Given the description of an element on the screen output the (x, y) to click on. 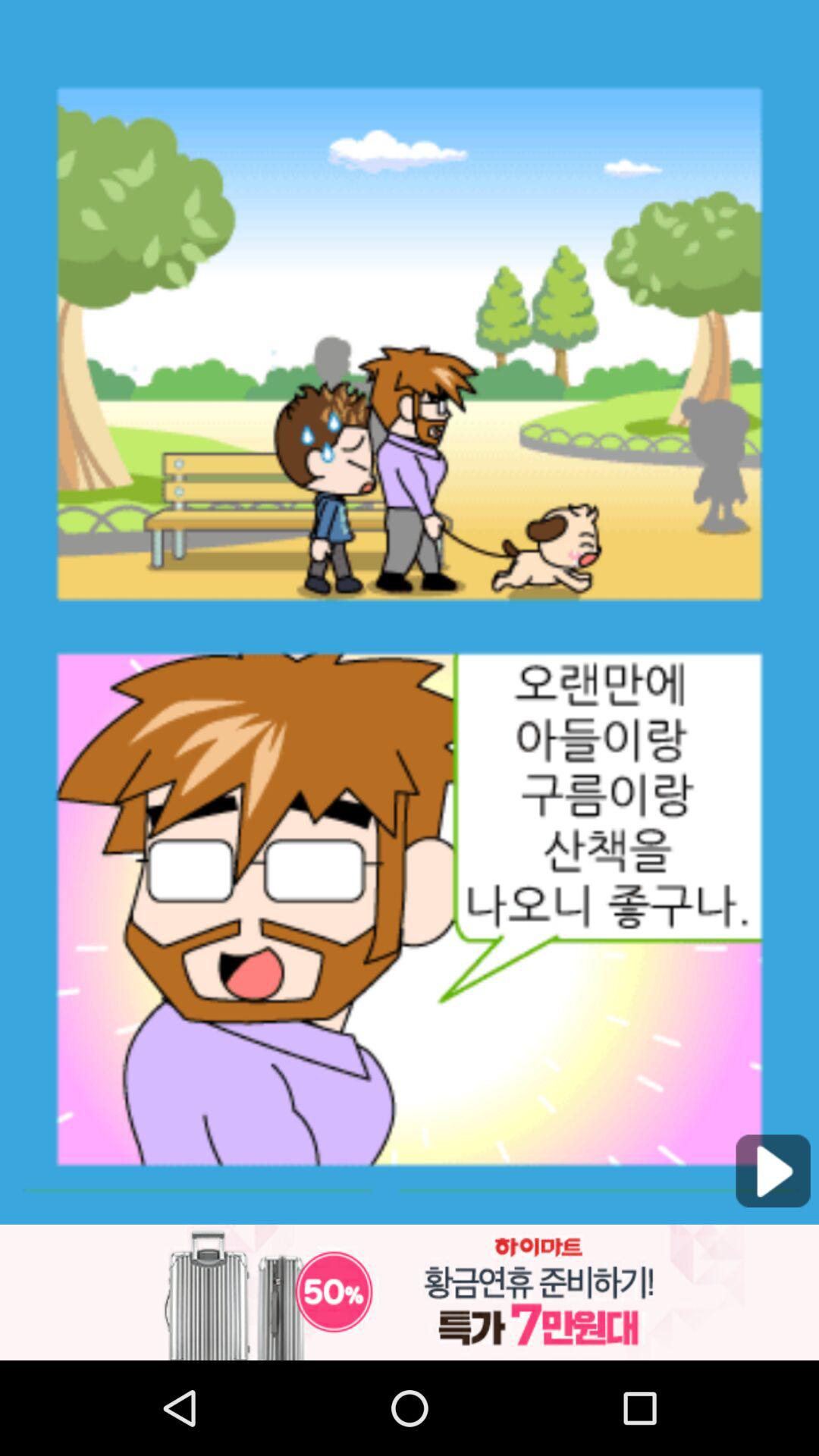
play article (772, 1170)
